Given the description of an element on the screen output the (x, y) to click on. 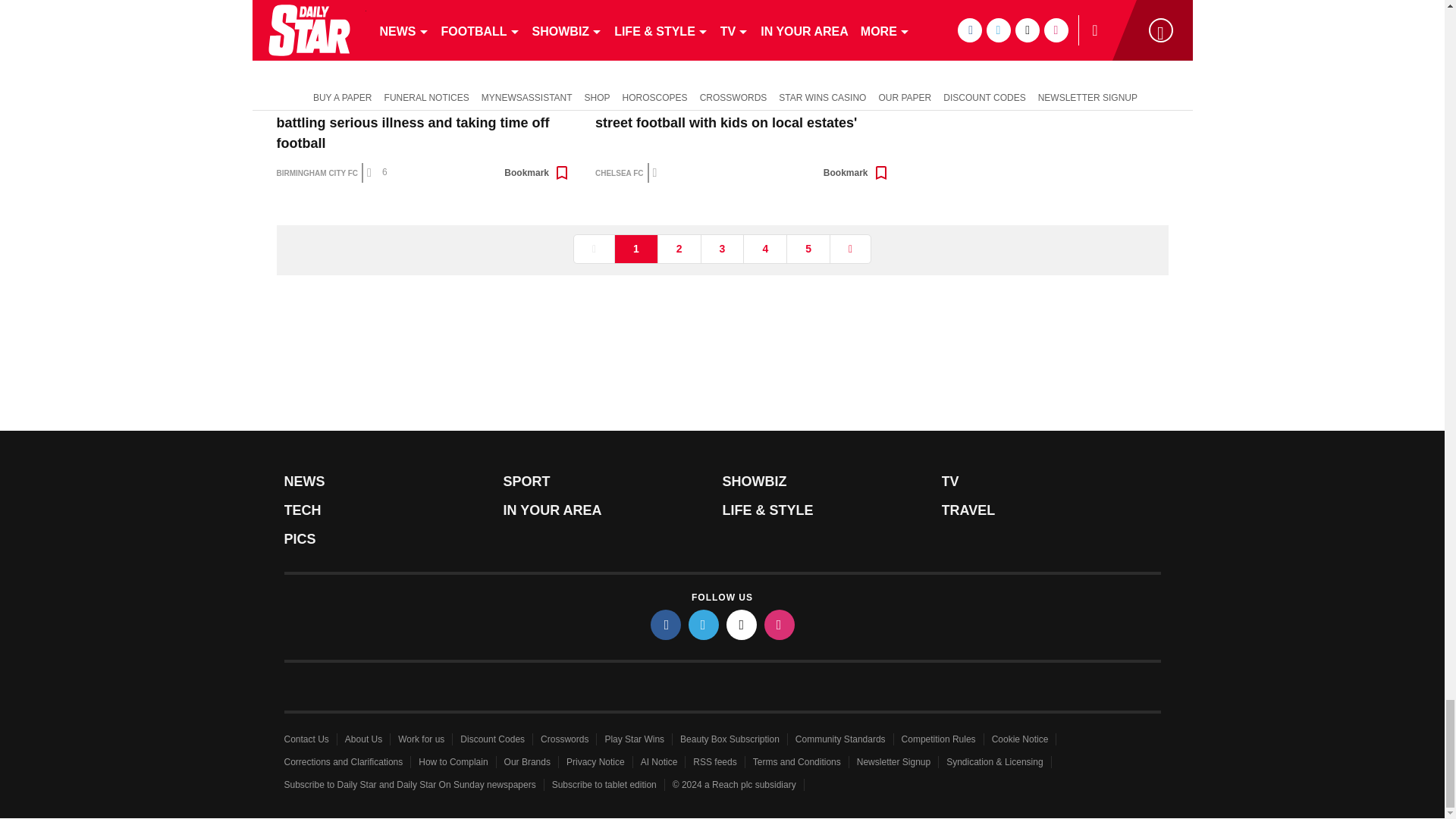
tiktok (741, 624)
instagram (779, 624)
twitter (703, 624)
facebook (665, 624)
